Given the description of an element on the screen output the (x, y) to click on. 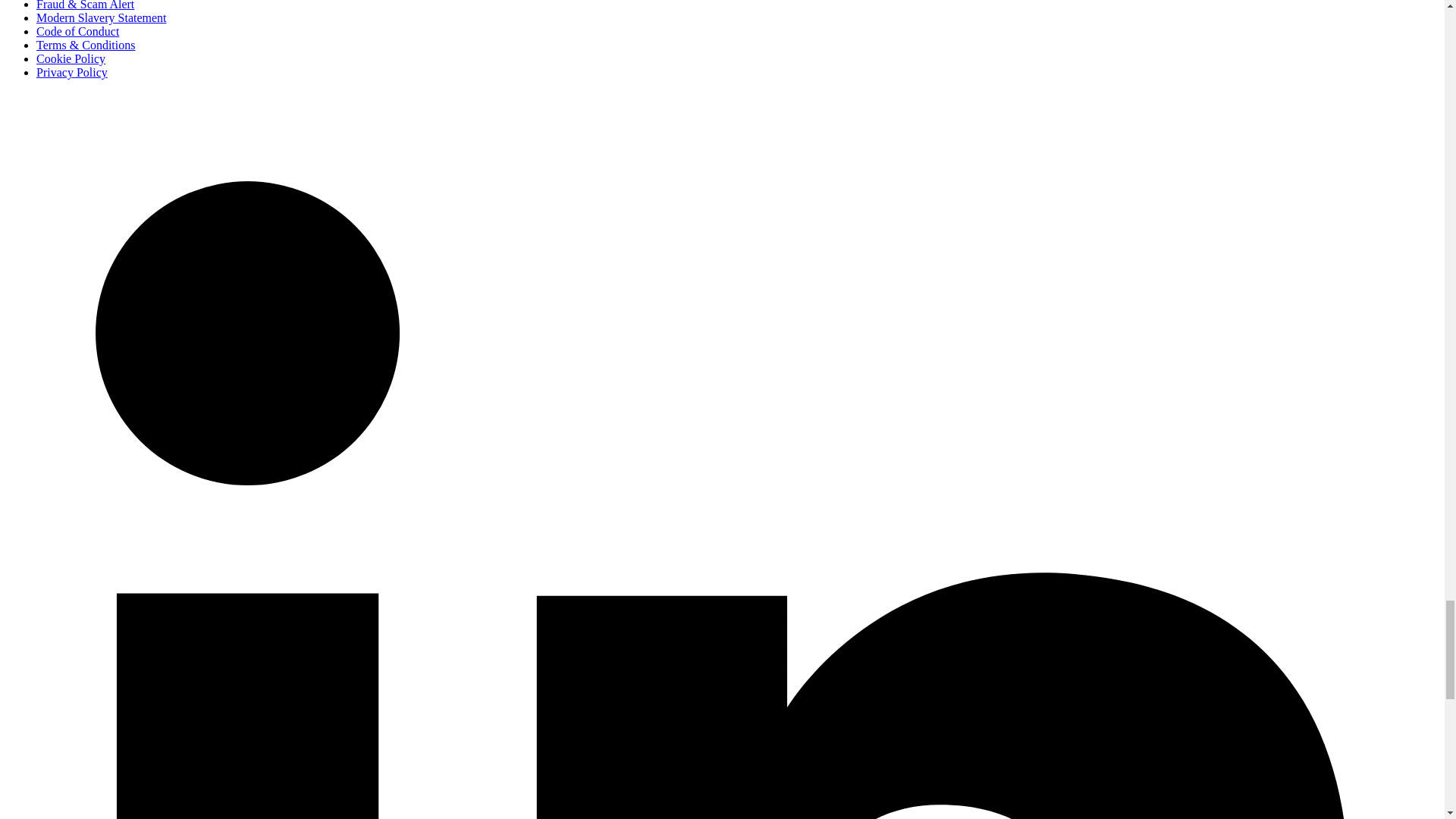
Modern Slavery Statement (101, 17)
Code of Conduct (77, 31)
